Given the description of an element on the screen output the (x, y) to click on. 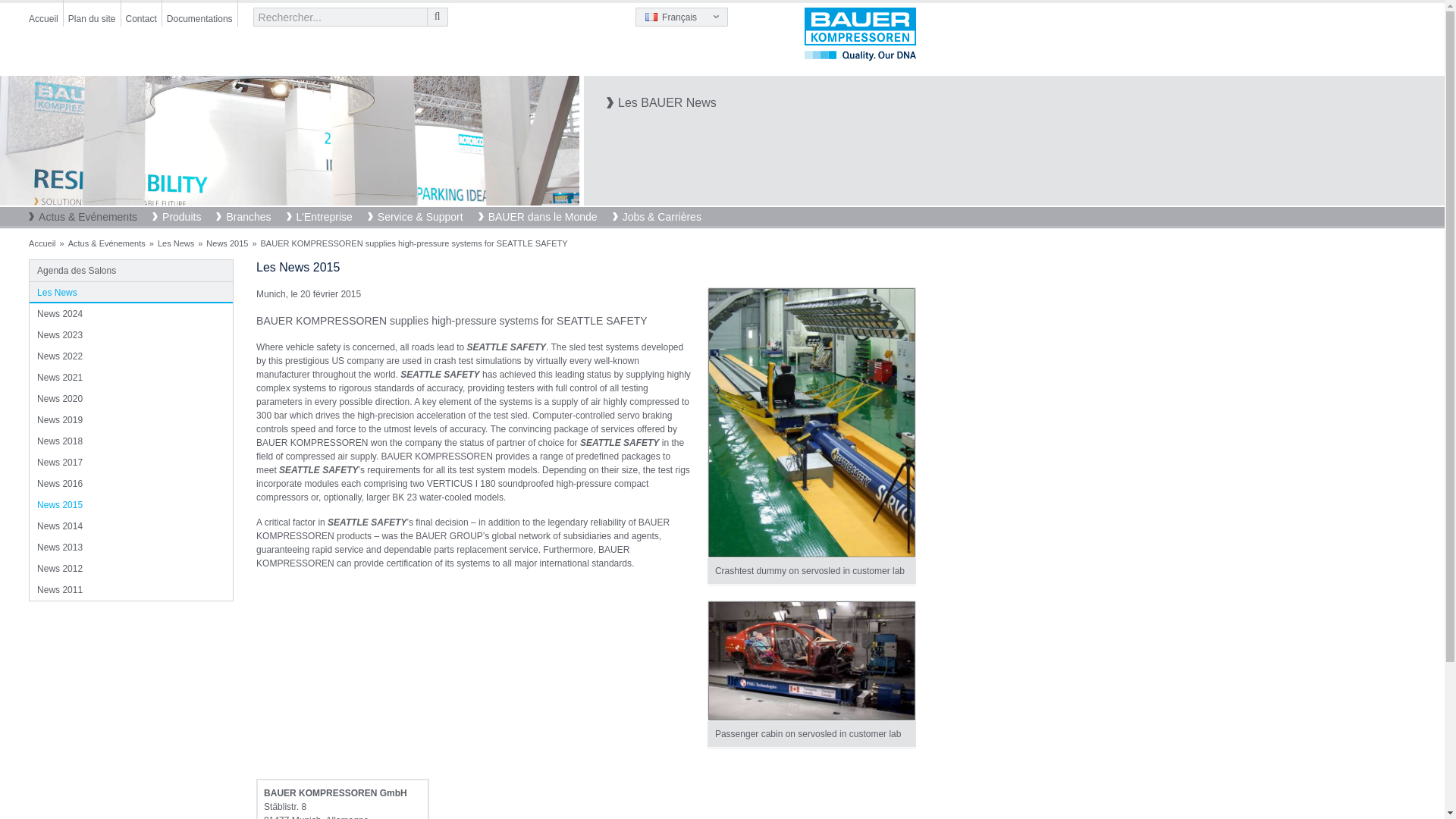
Documentations (199, 12)
Contact (141, 12)
News 2015 (289, 140)
BAUER KOMPRESSOREN GROUP (860, 33)
Accueil (43, 12)
Produits (183, 217)
Plan du site (92, 12)
